Given the description of an element on the screen output the (x, y) to click on. 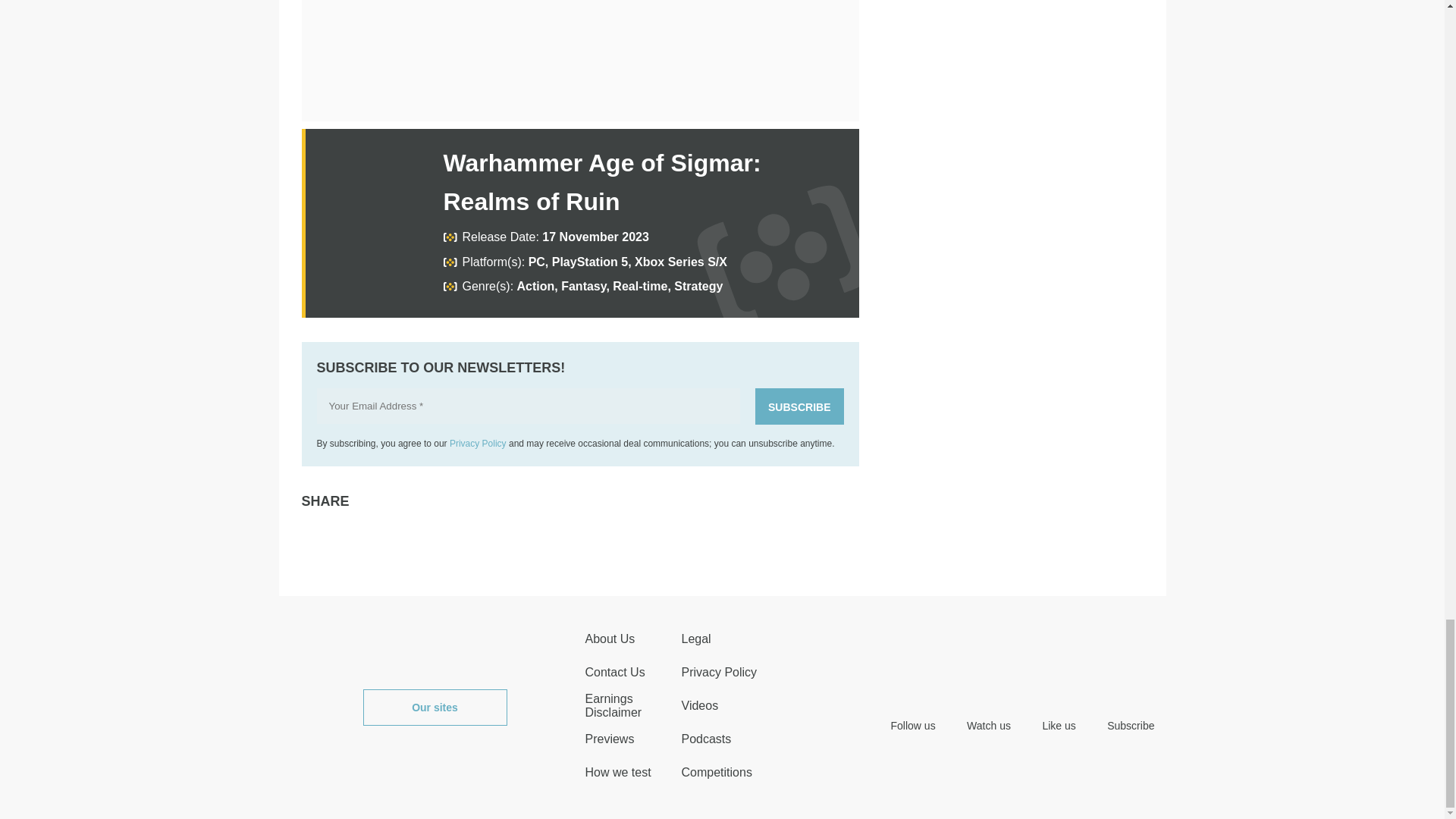
Privacy Policy (477, 443)
Warhammer Age of Sigmar: Realms of Ruin (601, 182)
Subscribe (799, 406)
Subscribe (799, 406)
